Given the description of an element on the screen output the (x, y) to click on. 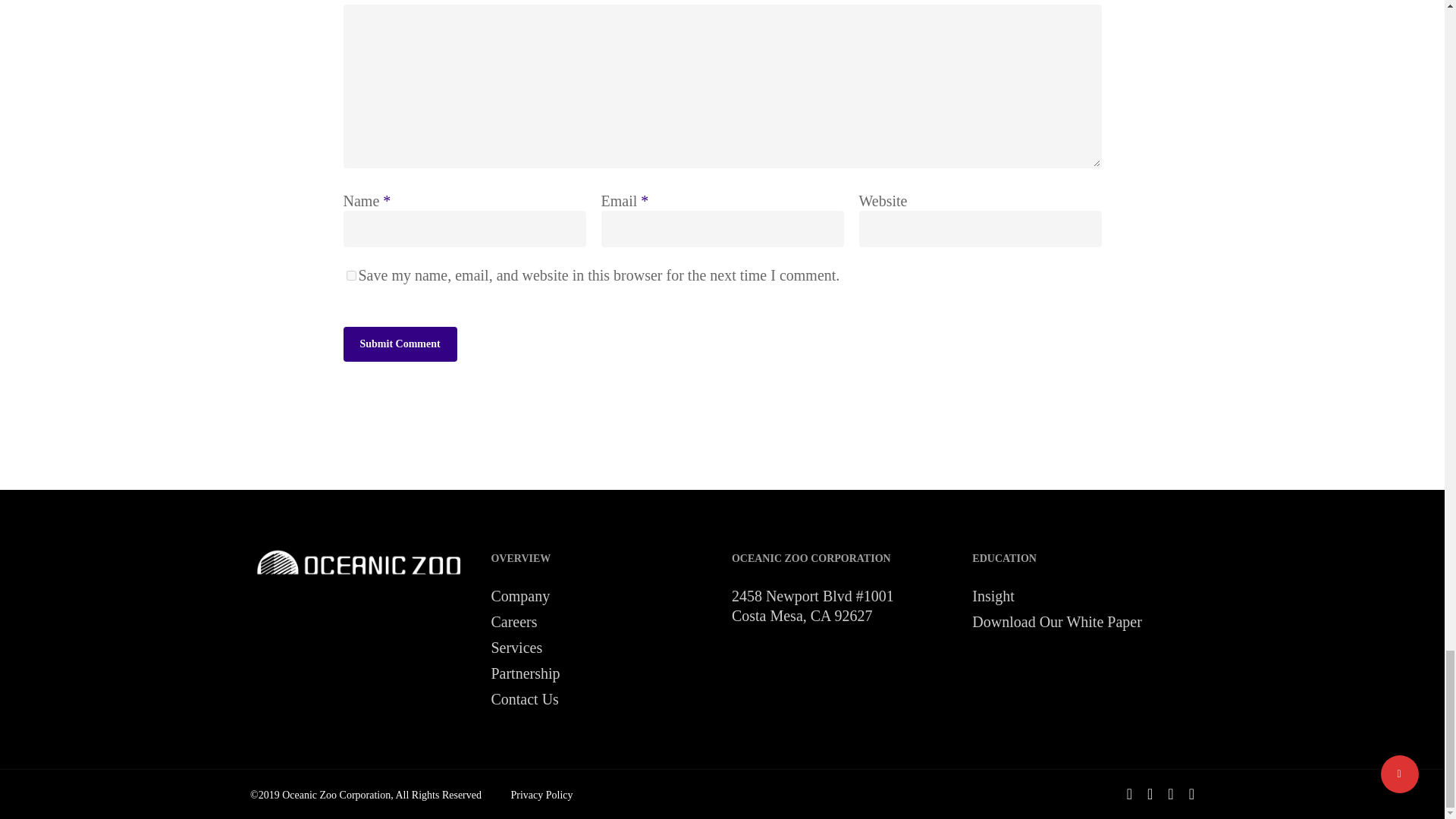
Careers (601, 621)
Download Our White Paper (1082, 621)
yes (350, 275)
Contact Us (601, 699)
Partnership (601, 673)
Insight (1082, 596)
Submit Comment (399, 343)
Company (601, 596)
Services (601, 647)
Submit Comment (399, 343)
Privacy Policy (541, 794)
